Given the description of an element on the screen output the (x, y) to click on. 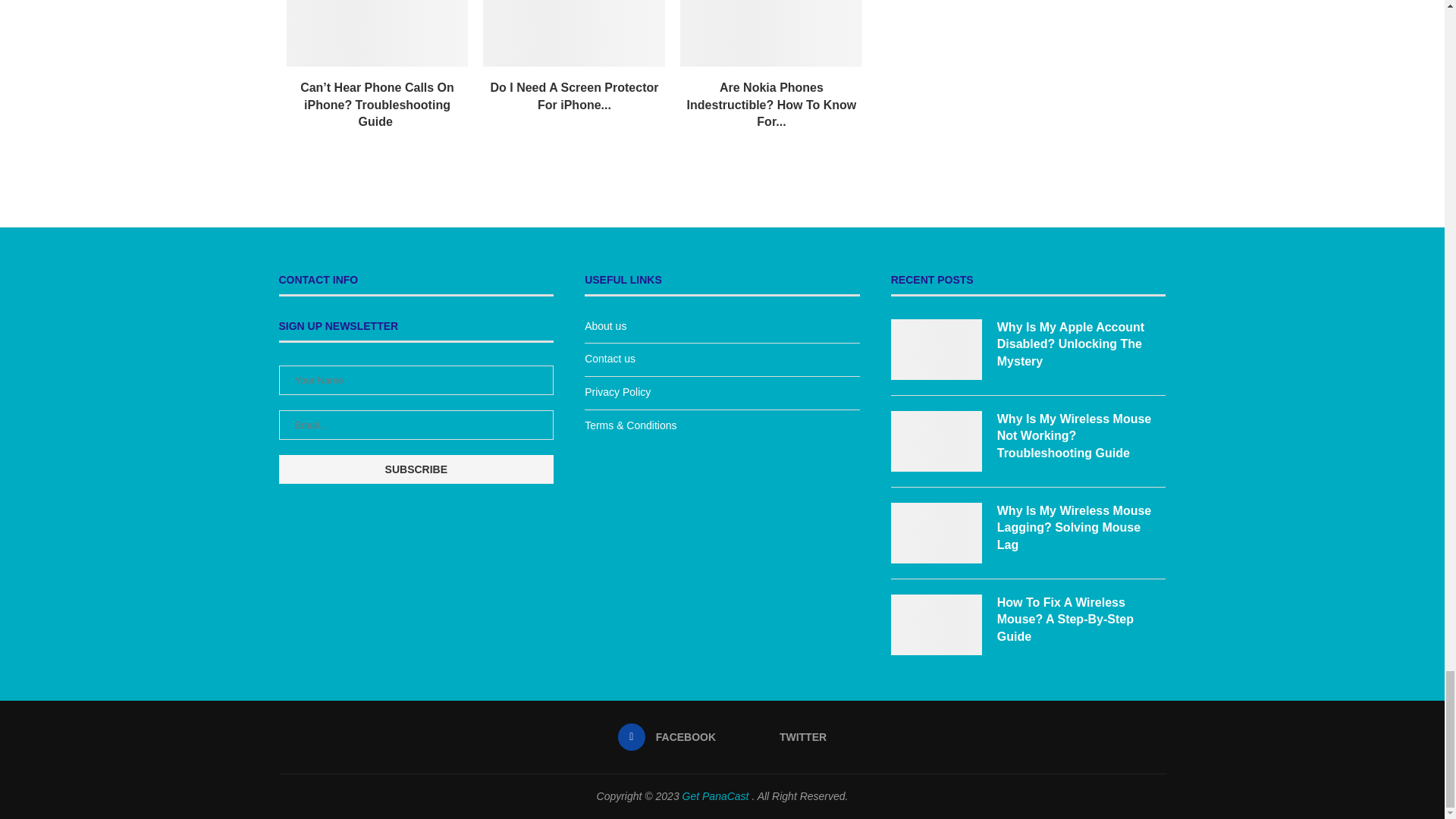
Subscribe (416, 469)
